Given the description of an element on the screen output the (x, y) to click on. 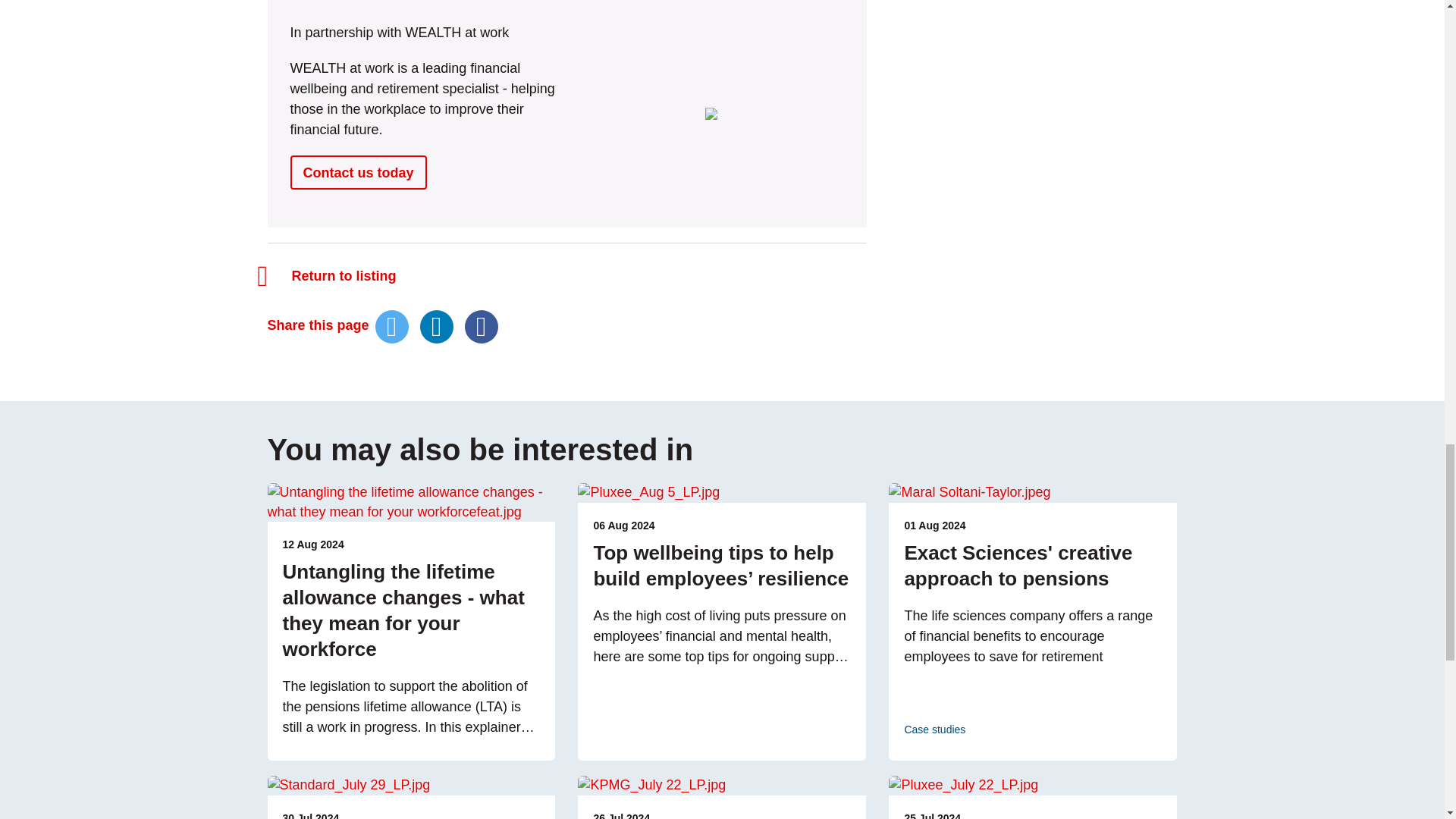
twitter (392, 326)
facebook (480, 326)
linkedin (436, 326)
